Given the description of an element on the screen output the (x, y) to click on. 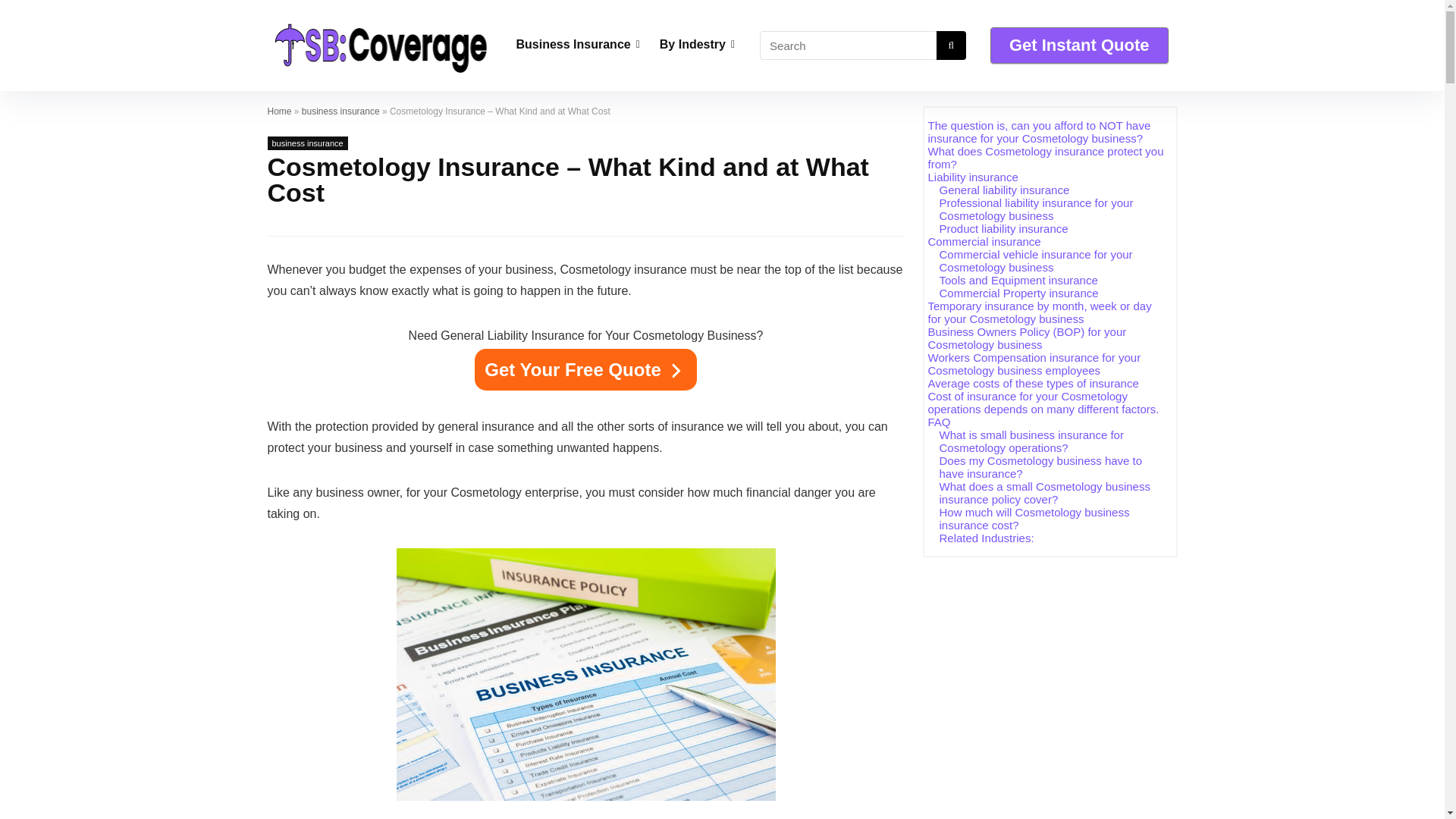
By Indestry (696, 45)
Home (278, 111)
Business Insurance (577, 45)
business insurance (306, 142)
View all posts in business insurance (306, 142)
Get Instant Quote (1079, 45)
Business Insurance for Cosmetology (585, 673)
business insurance (340, 111)
Get Your Free Quote (585, 369)
